Given the description of an element on the screen output the (x, y) to click on. 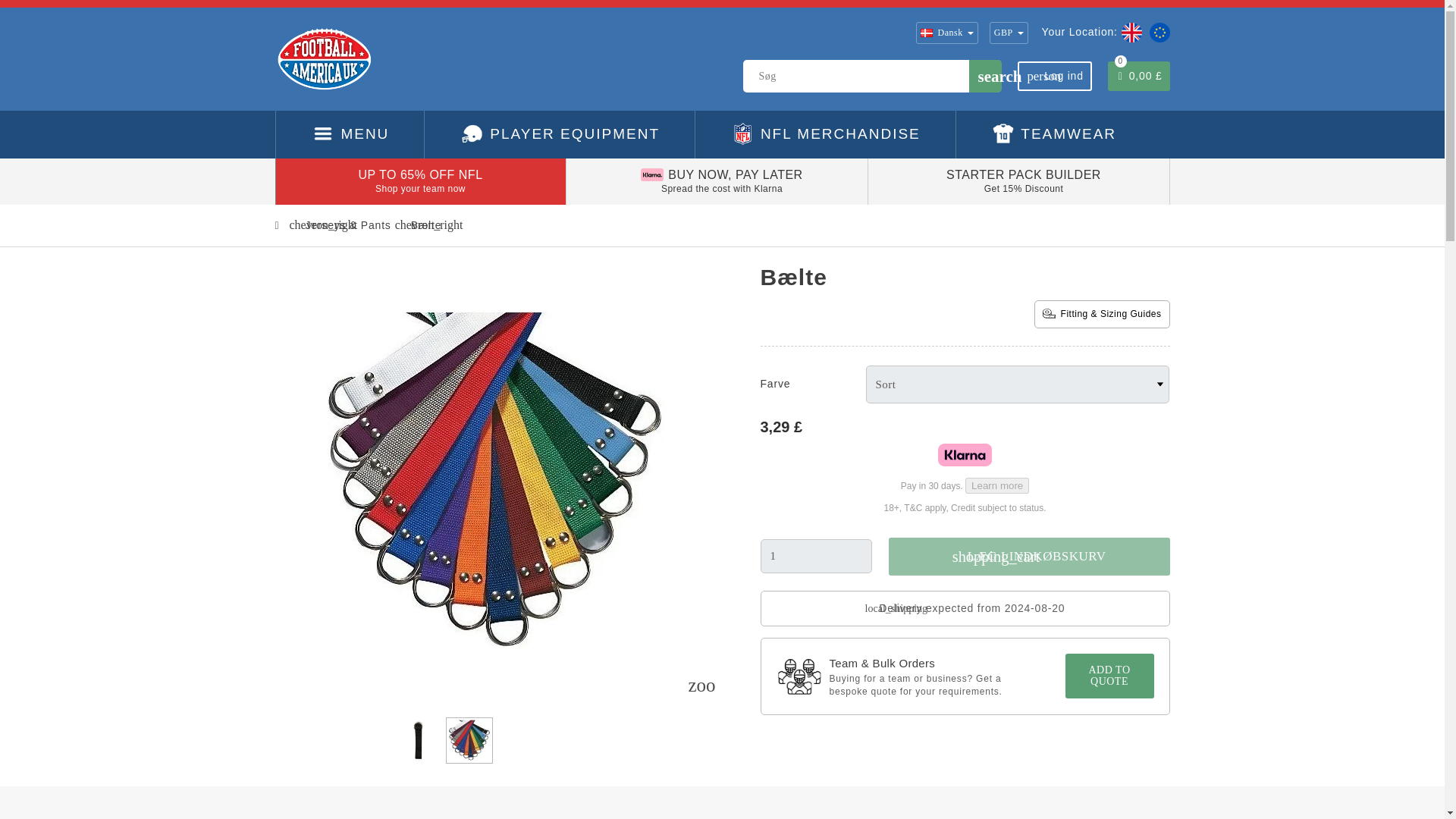
Spread the cost with Klarna (722, 188)
GBP (1008, 33)
NFL MERCHANDISE (825, 134)
search (985, 75)
1 (816, 555)
EU (1156, 32)
UK (1129, 32)
STARTER PACK BUILDER (1054, 76)
  Dansk (1023, 174)
